Given the description of an element on the screen output the (x, y) to click on. 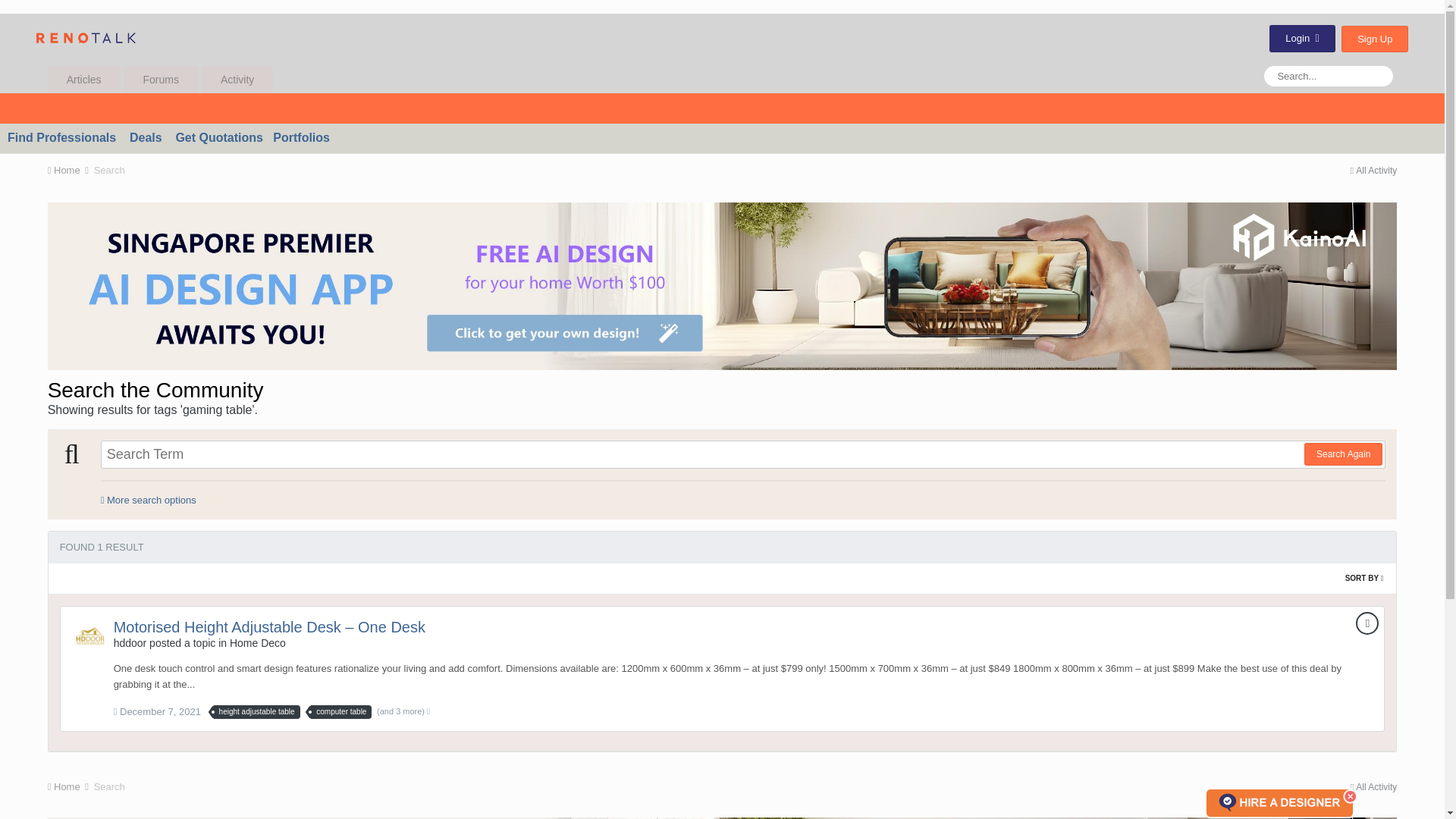
Activity (237, 79)
Sign Up (1373, 38)
All Activity (1374, 170)
Login   (1302, 38)
Search (109, 170)
Home (69, 170)
Home (69, 786)
Home (69, 170)
Forums (160, 79)
Get Quotations (218, 137)
Topic (1366, 622)
Articles (84, 79)
Deals (145, 137)
Portfolios (301, 137)
Go to hddoor's profile (130, 643)
